Given the description of an element on the screen output the (x, y) to click on. 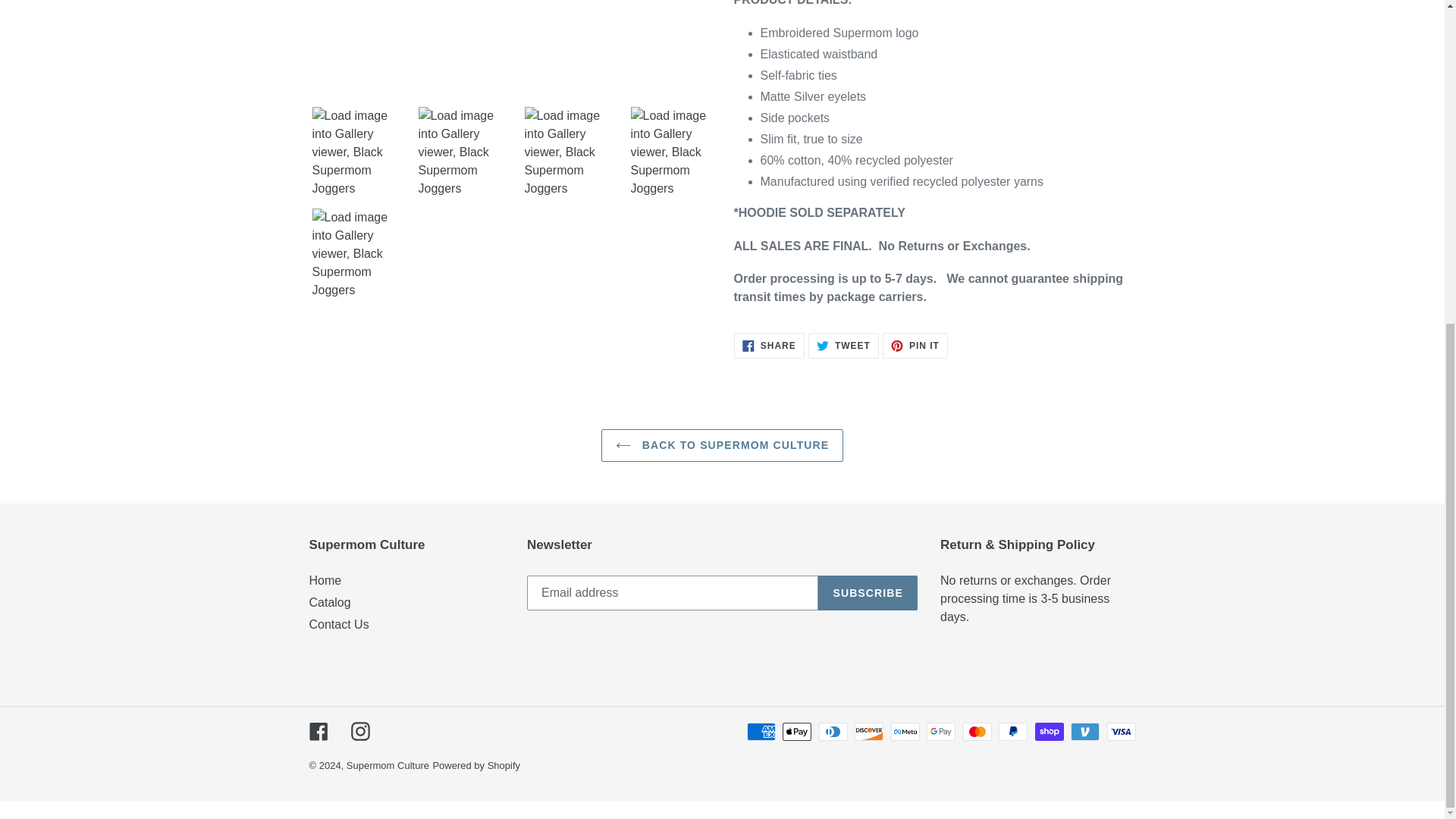
Catalog (329, 602)
SUBSCRIBE (914, 345)
Contact Us (867, 592)
BACK TO SUPERMOM CULTURE (338, 624)
Powered by Shopify (722, 445)
Home (769, 345)
Facebook (475, 765)
Instagram (325, 580)
Supermom Culture (843, 345)
